Given the description of an element on the screen output the (x, y) to click on. 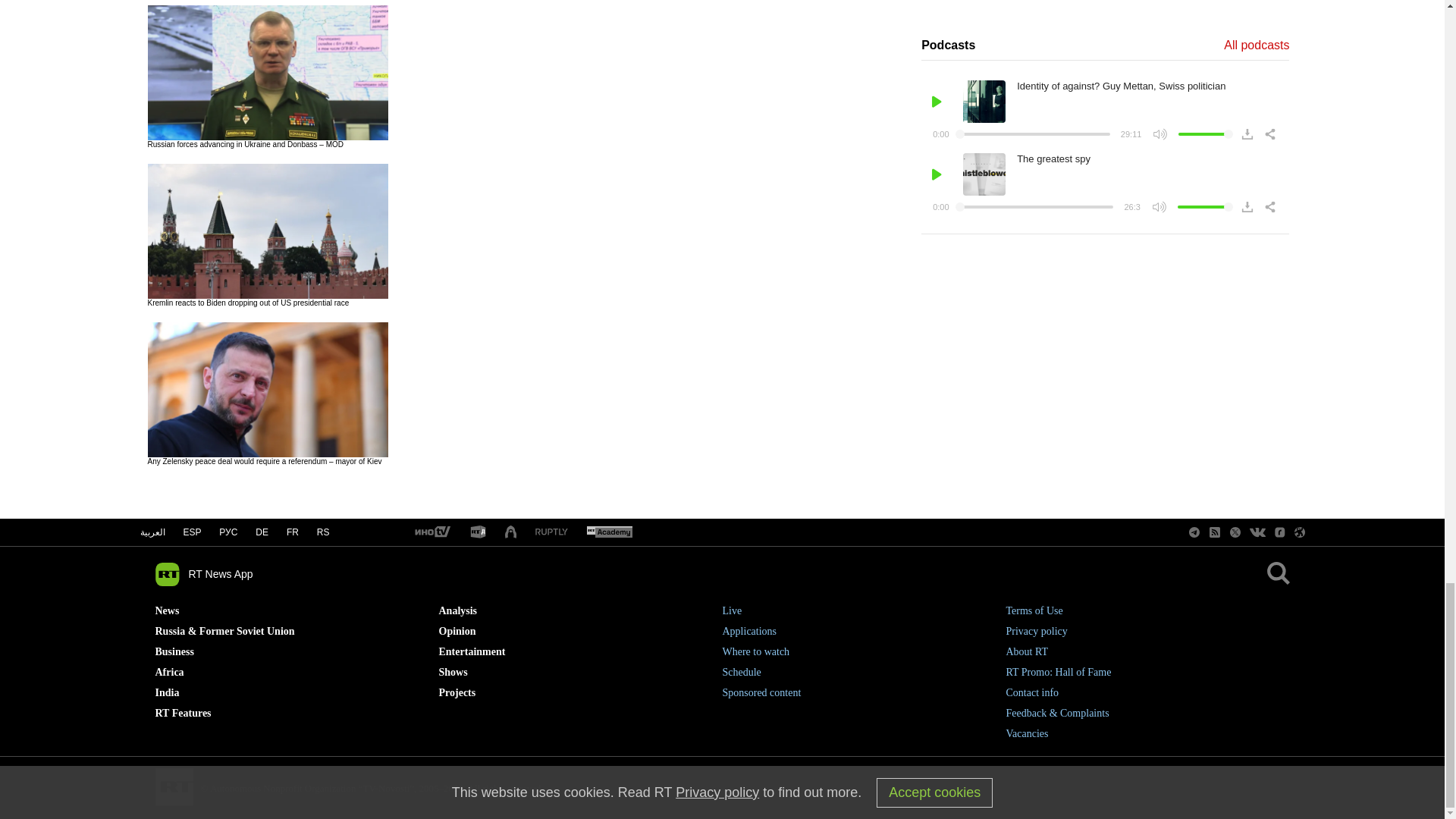
RT  (478, 532)
RT  (608, 532)
RT  (431, 532)
RT  (551, 532)
